Given the description of an element on the screen output the (x, y) to click on. 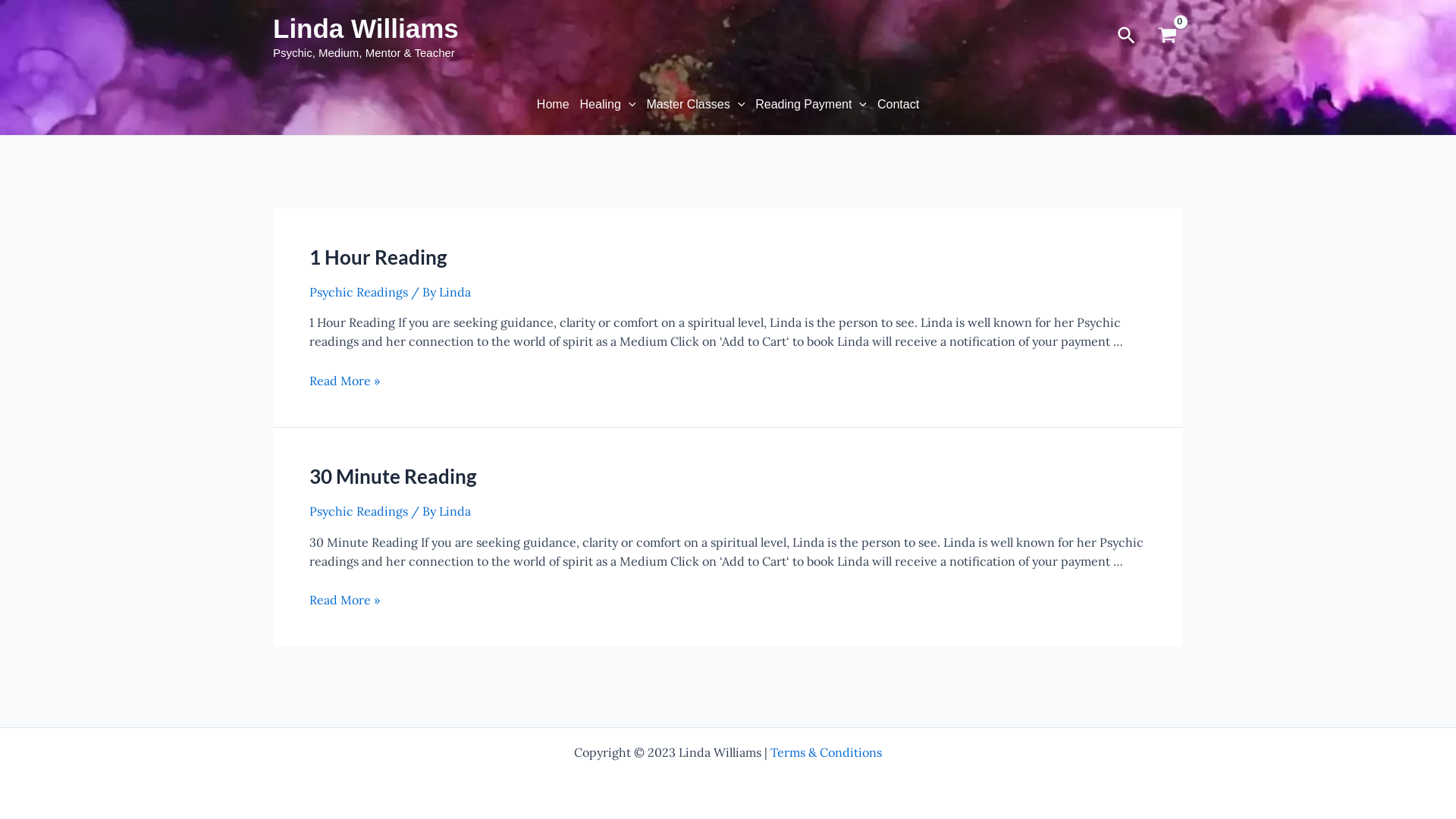
Healing Element type: text (607, 104)
Terms & Conditions Element type: text (825, 751)
Linda Williams Element type: text (365, 28)
Contact Element type: text (898, 104)
Linda Element type: text (454, 510)
Master Classes Element type: text (694, 104)
Psychic Readings Element type: text (358, 291)
1 Hour Reading Element type: text (377, 256)
Linda Element type: text (454, 291)
Reading Payment Element type: text (810, 104)
30 Minute Reading Element type: text (392, 476)
Search Element type: text (1126, 36)
Psychic Readings Element type: text (358, 510)
Home Element type: text (552, 104)
